Given the description of an element on the screen output the (x, y) to click on. 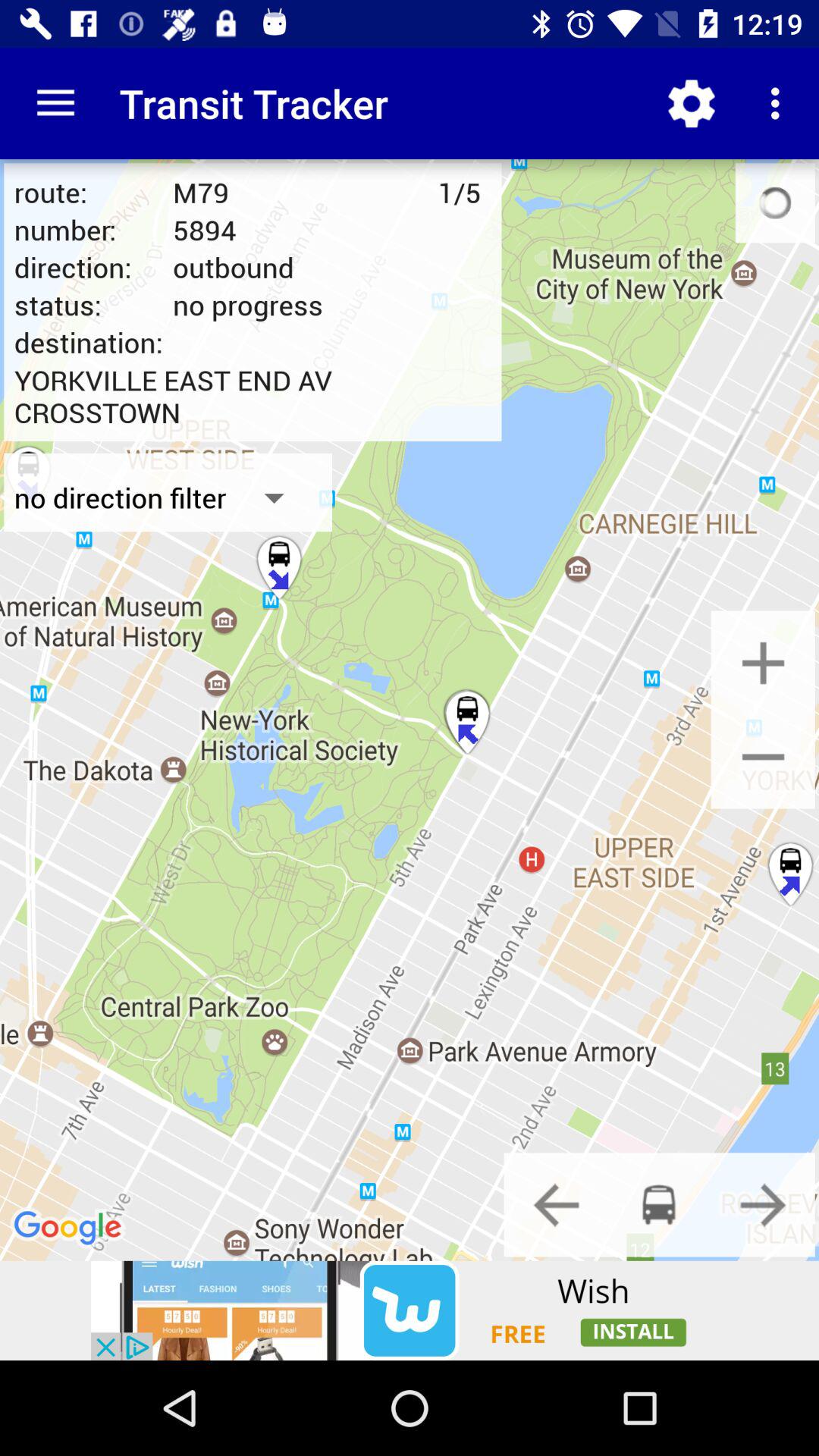
click on zoom out icon (762, 756)
